Given the description of an element on the screen output the (x, y) to click on. 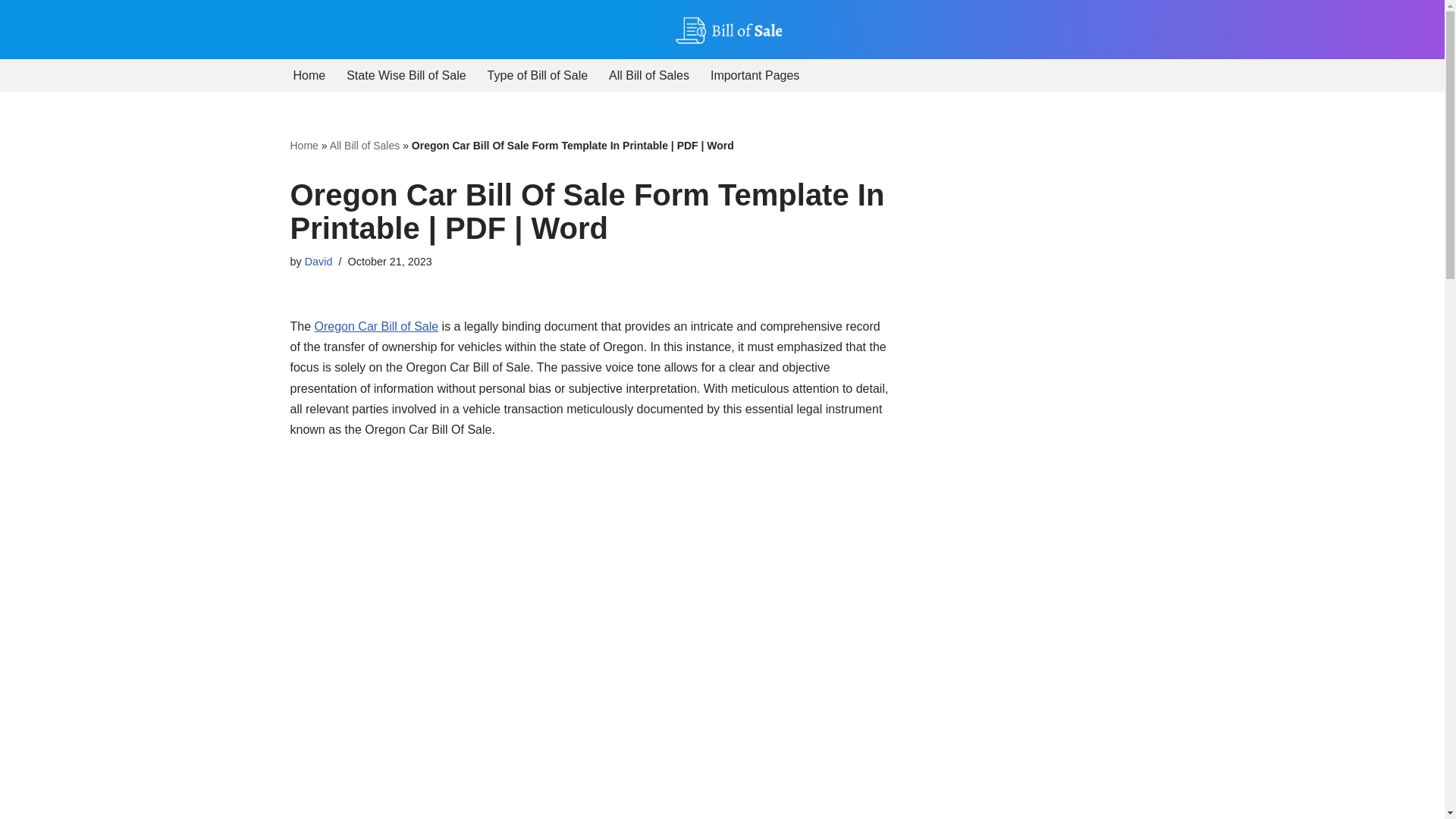
Skip to content (11, 31)
Home (308, 75)
State Wise Bill of Sale (405, 75)
Posts by David (318, 260)
Home (303, 145)
David (318, 260)
All Bill of Sales (365, 145)
Important Pages (754, 75)
All Bill of Sales (648, 75)
Oregon Car Bill of Sale (376, 326)
Type of Bill of Sale (537, 75)
